Given the description of an element on the screen output the (x, y) to click on. 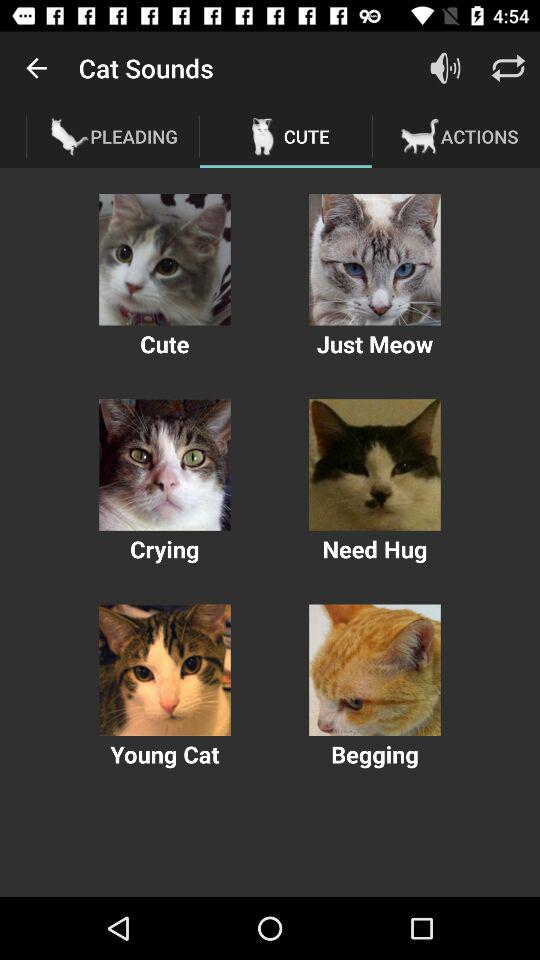
click cat photo (164, 259)
